Given the description of an element on the screen output the (x, y) to click on. 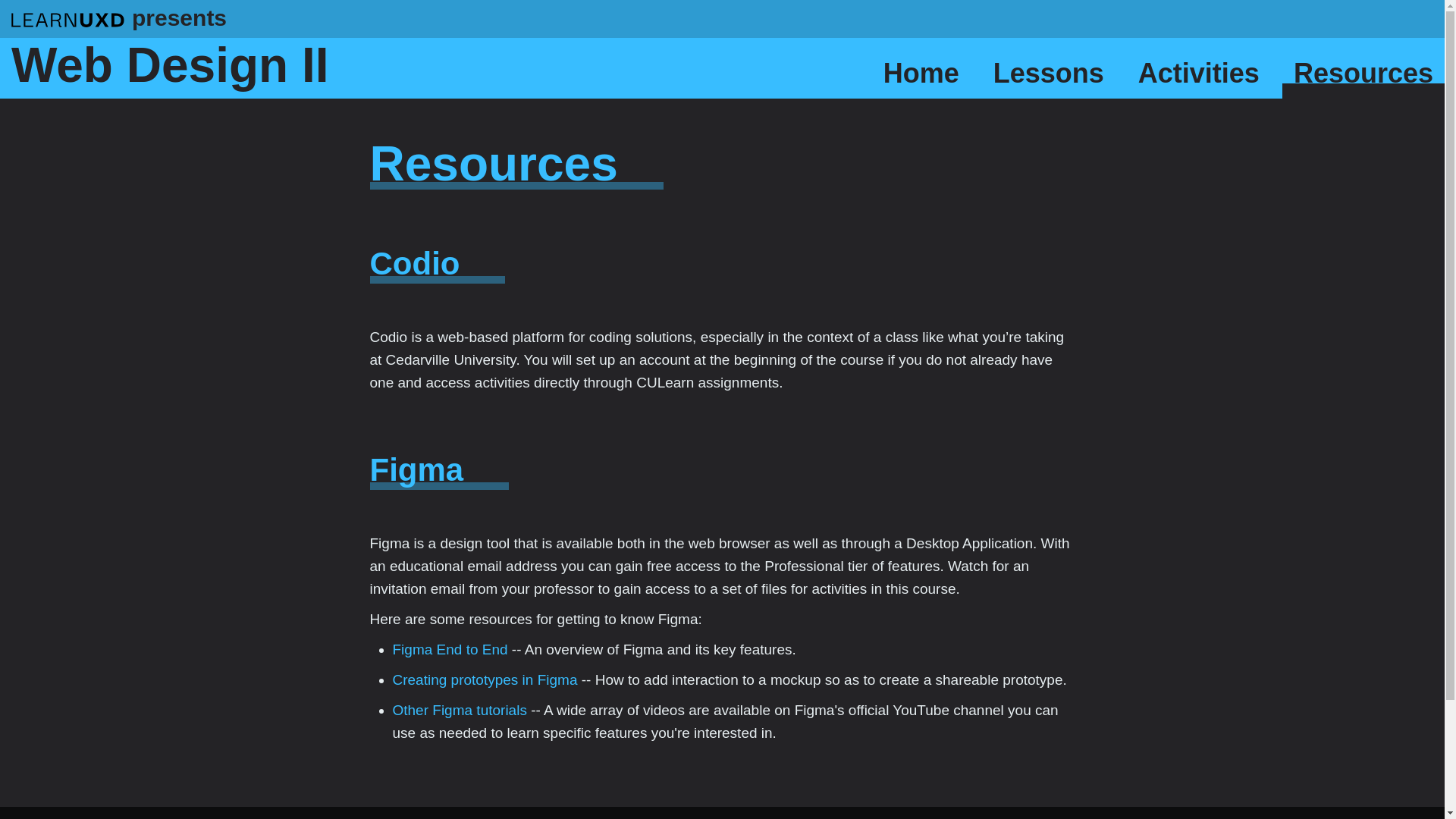
Home (921, 75)
Activities (1198, 75)
Web Design II (170, 63)
Lessons (1048, 75)
Other Figma tutorials (460, 709)
Creating prototypes in Figma (485, 679)
Figma End to End (450, 649)
Learn UXD (67, 18)
